Given the description of an element on the screen output the (x, y) to click on. 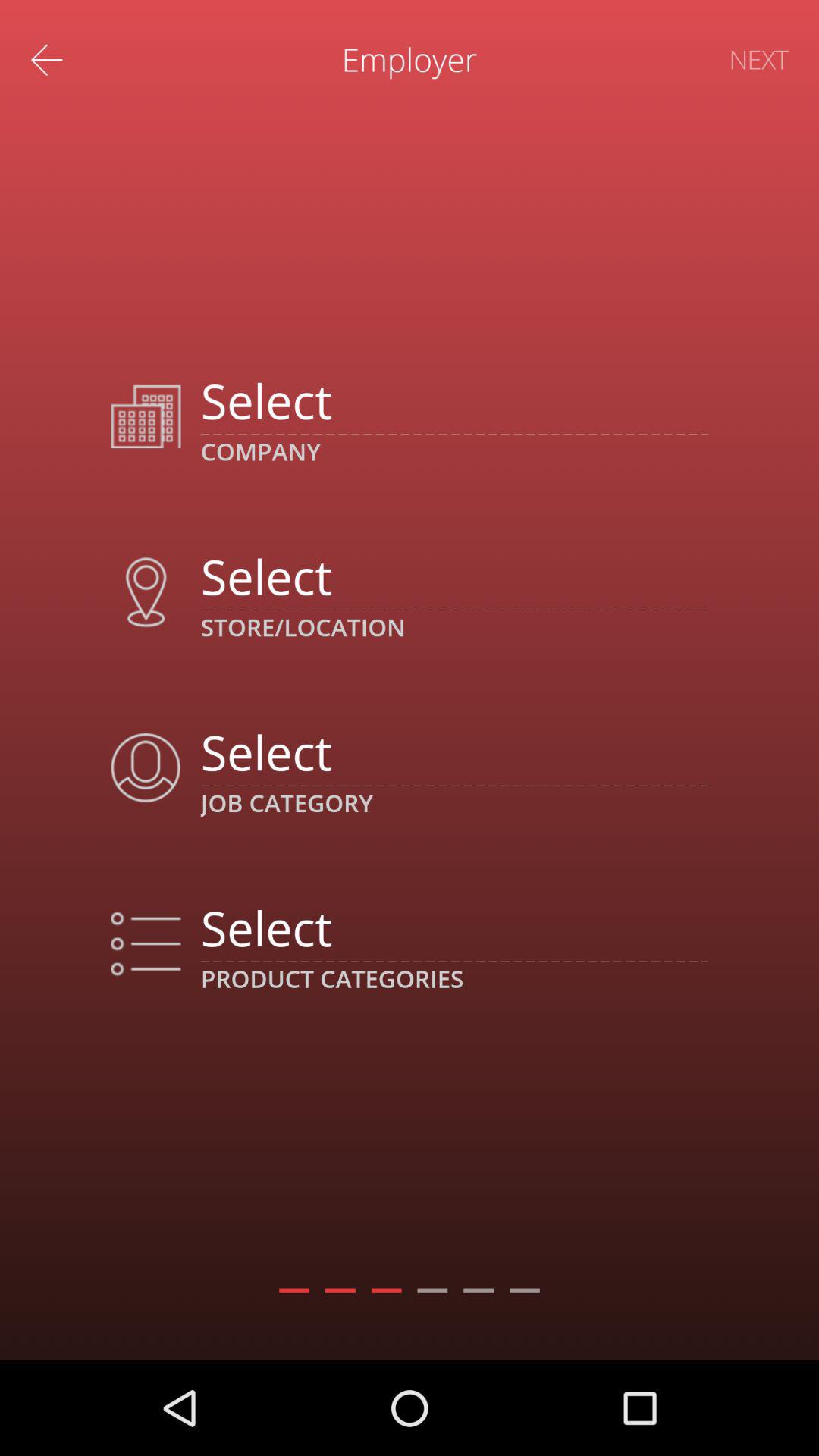
choose product categories (454, 927)
